Given the description of an element on the screen output the (x, y) to click on. 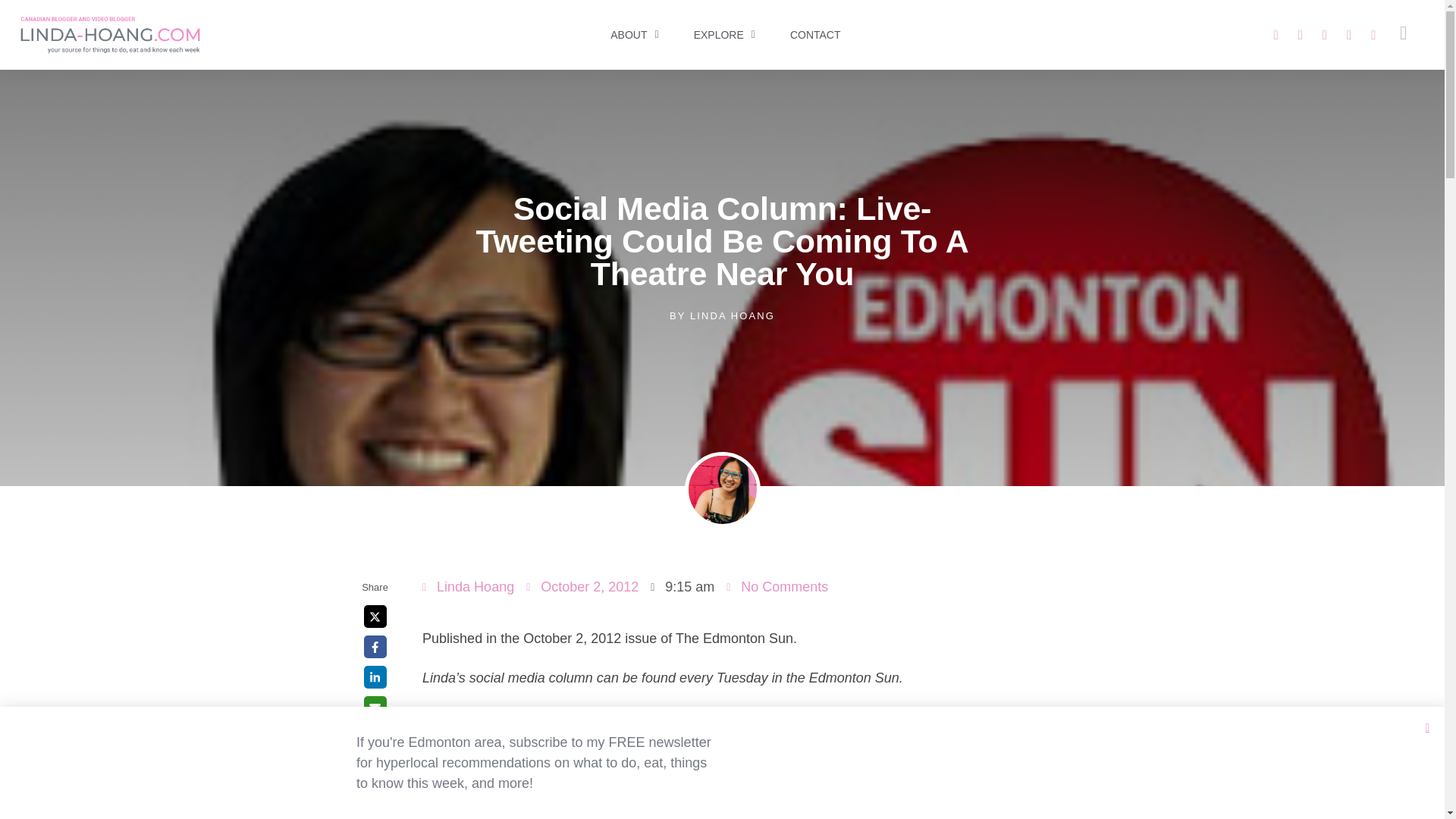
ABOUT (633, 34)
Edmonton Sun Linda Hoang (753, 766)
EXPLORE (724, 34)
CONTACT (815, 34)
